Given the description of an element on the screen output the (x, y) to click on. 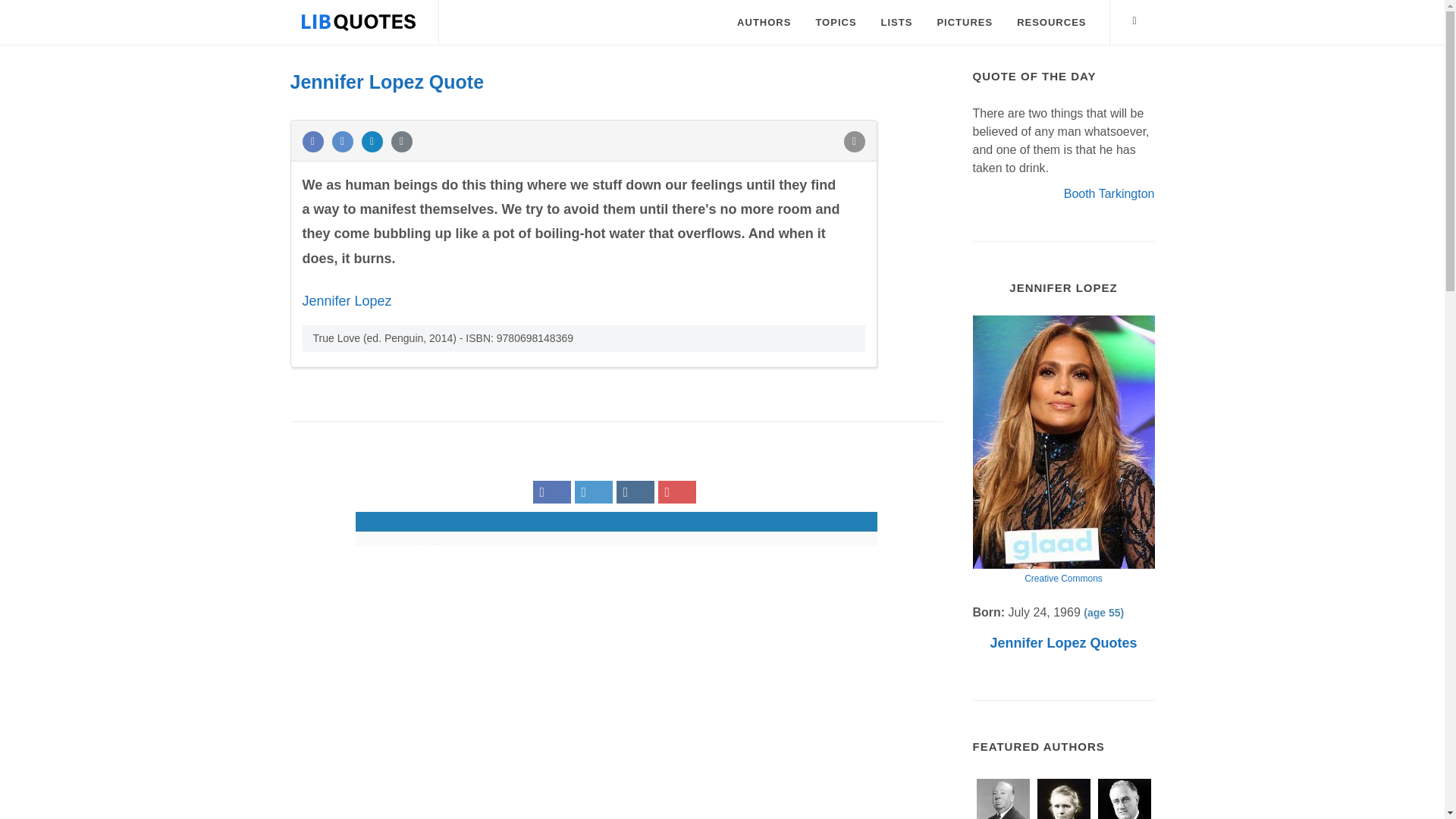
Creative Commons (1063, 578)
RESOURCES (1051, 22)
AUTHORS (763, 22)
TOPICS (835, 22)
LISTS (896, 22)
Jennifer Lopez (346, 300)
Booth Tarkington (1109, 192)
PICTURES (964, 22)
Jennifer Lopez Quotes (1063, 642)
